Given the description of an element on the screen output the (x, y) to click on. 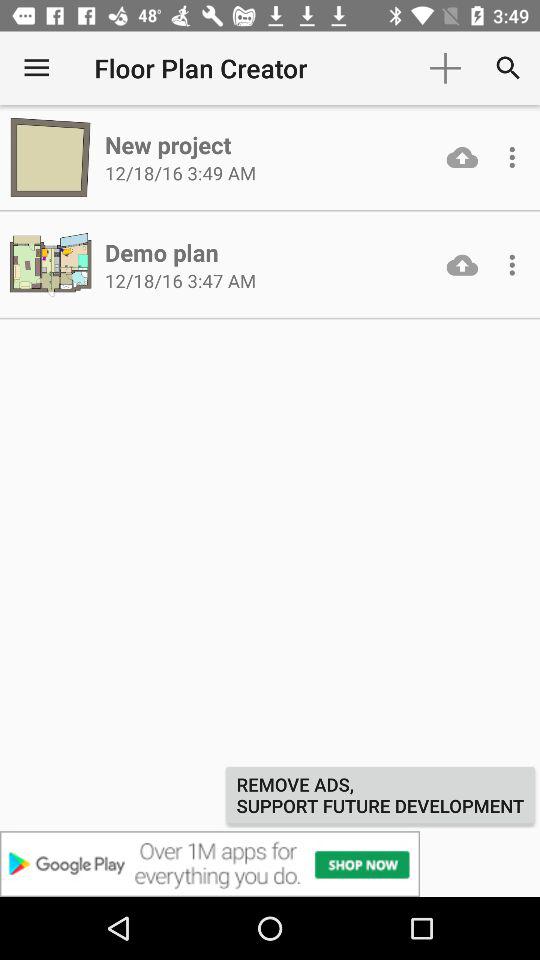
open advertisement (270, 864)
